Given the description of an element on the screen output the (x, y) to click on. 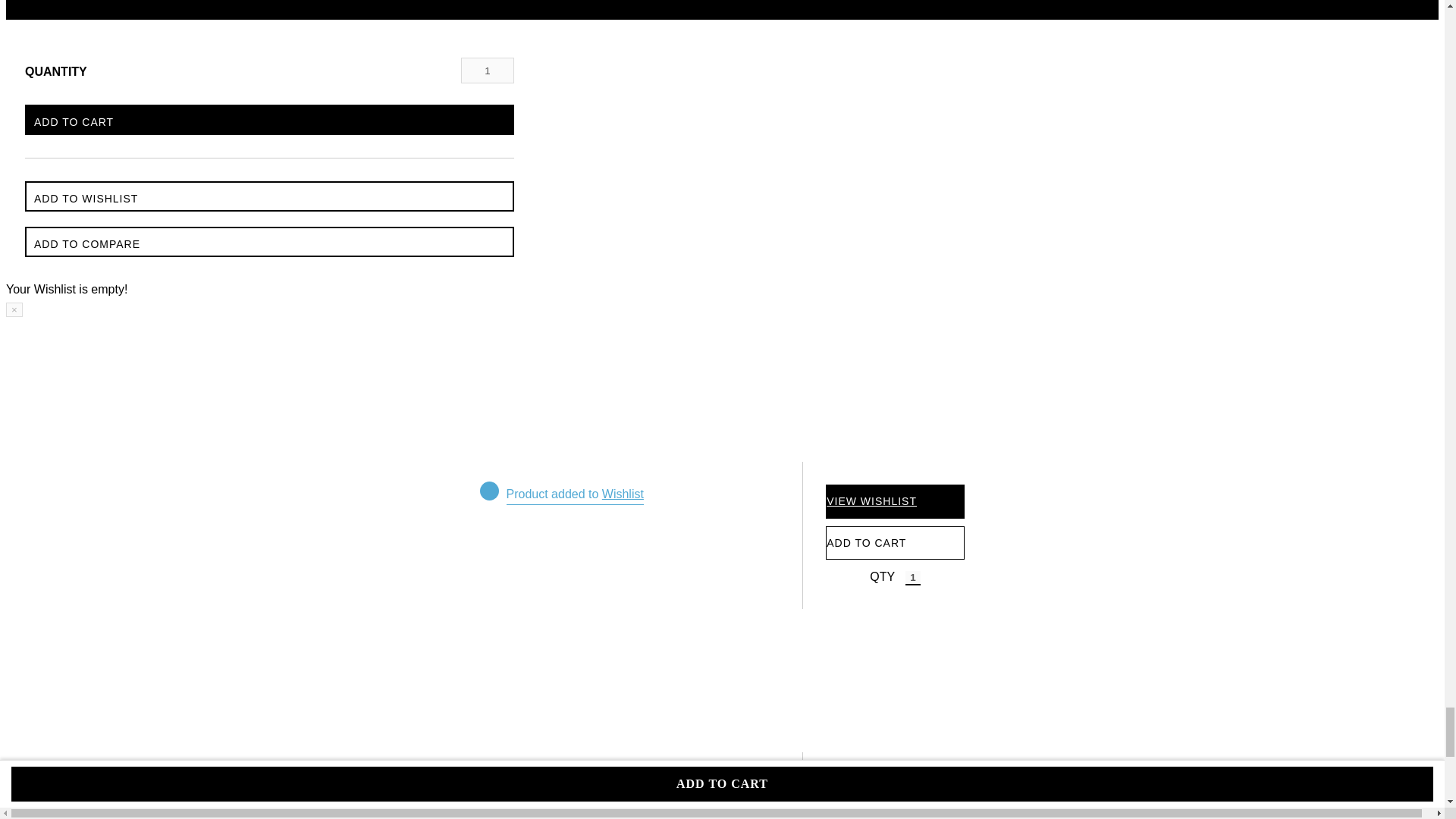
1 (912, 577)
1 (487, 70)
